Given the description of an element on the screen output the (x, y) to click on. 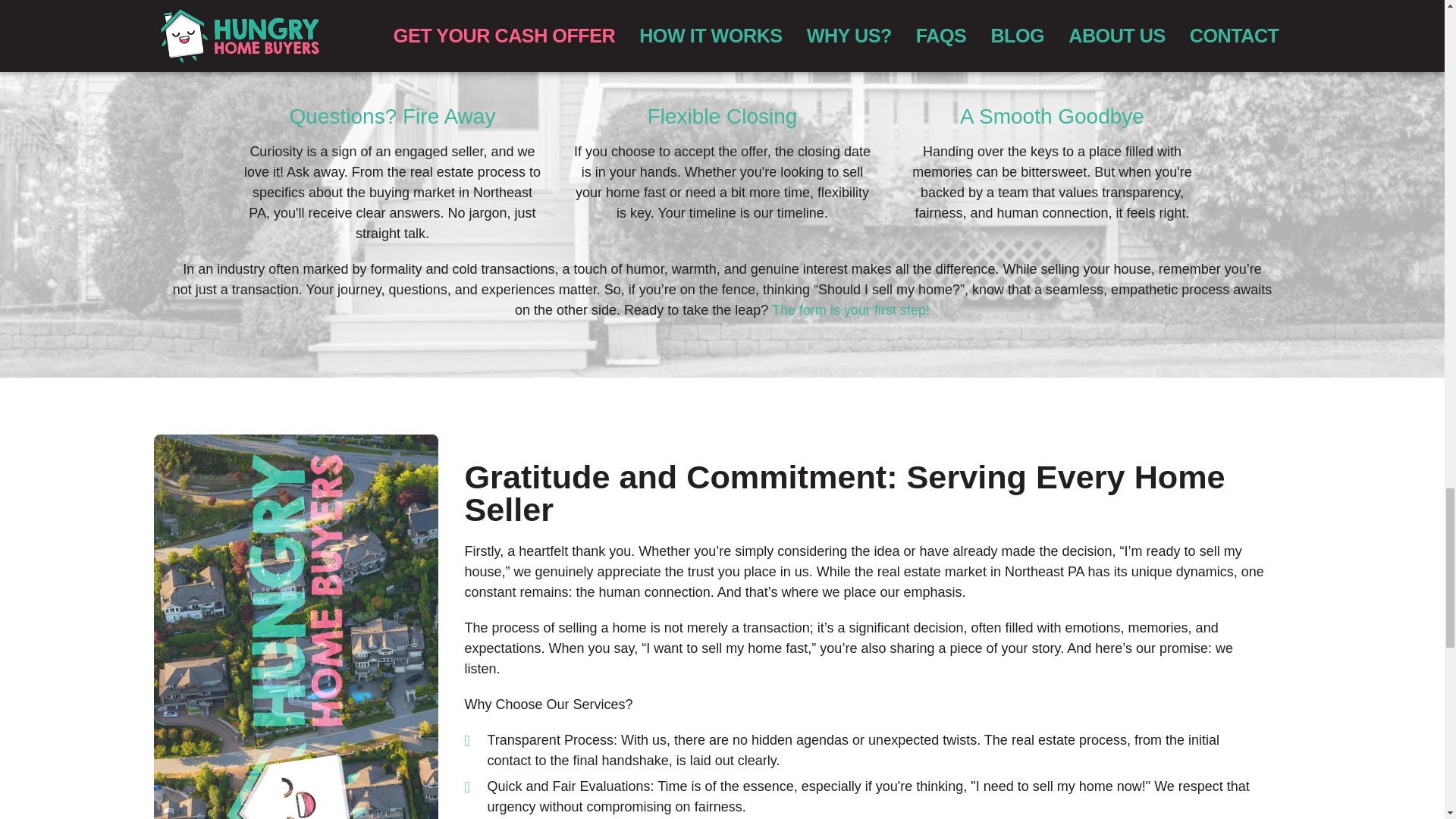
The form is your first step! (850, 309)
Get A Cash Offer For Your House (850, 309)
